Given the description of an element on the screen output the (x, y) to click on. 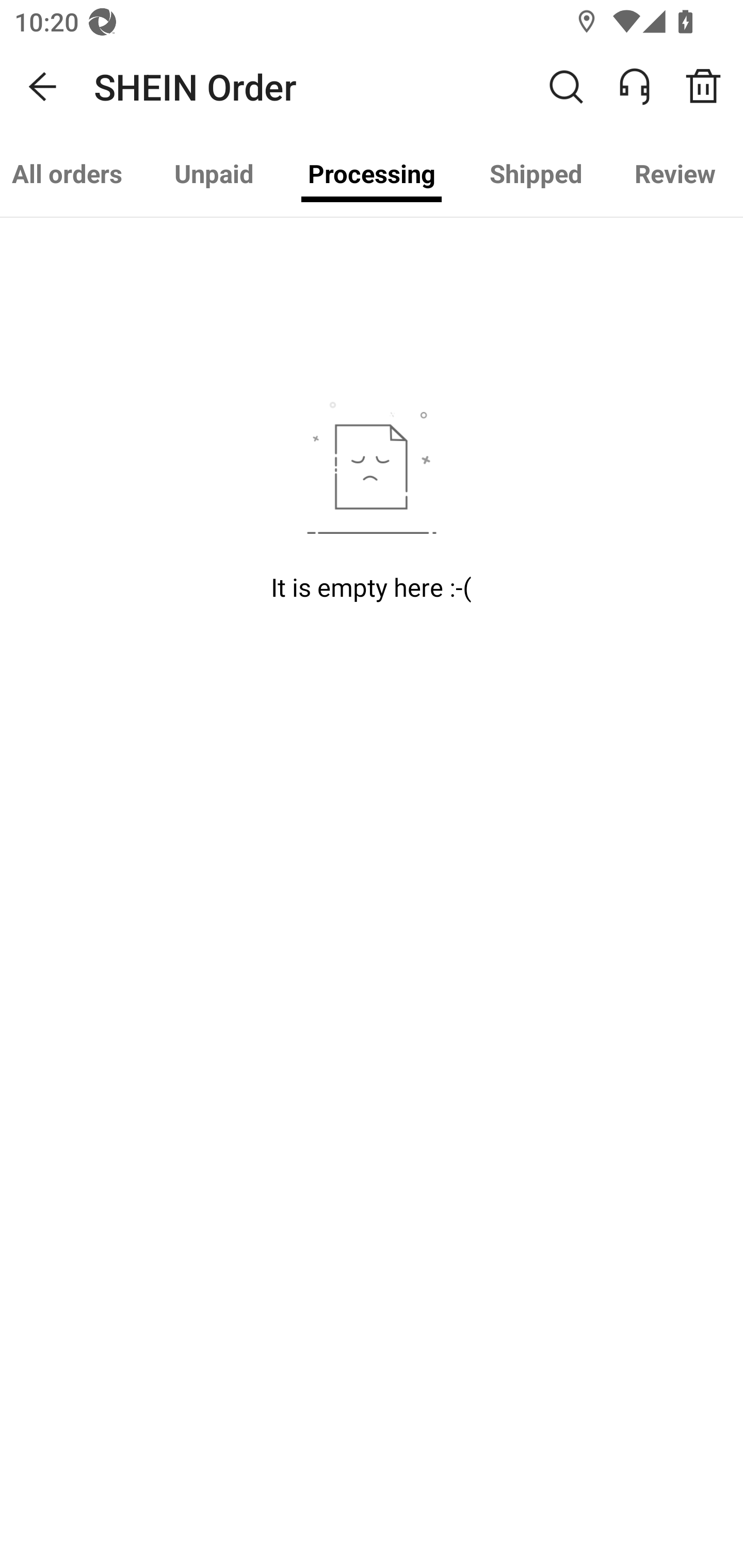
Navigate up (43, 86)
Search (565, 86)
ONLINE SERVICE (644, 86)
Order Recycle Bin (710, 86)
All orders (74, 173)
Unpaid (214, 173)
Processing (371, 173)
Shipped (535, 173)
Review (674, 173)
